Given the description of an element on the screen output the (x, y) to click on. 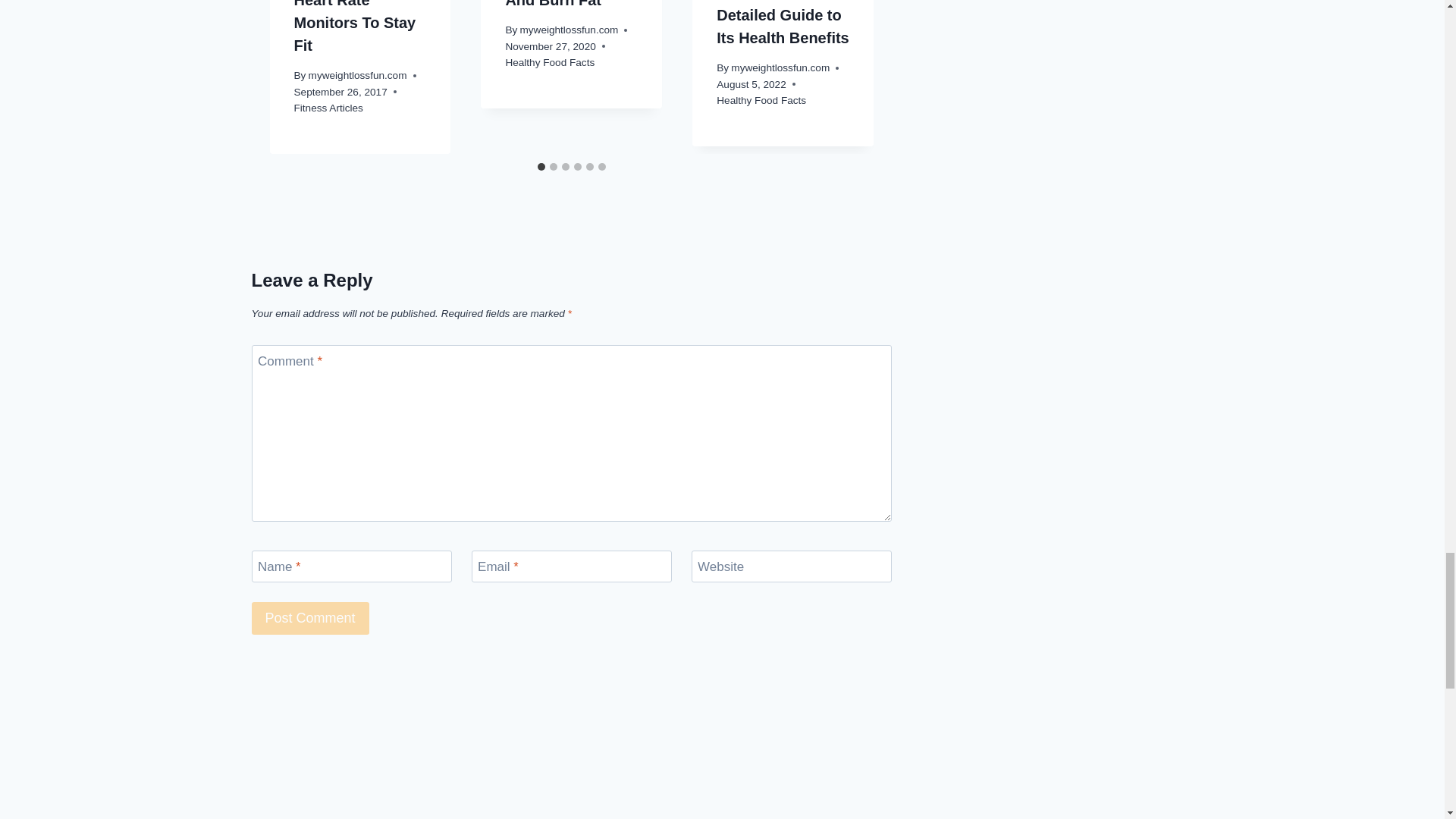
myweightlossfun.com (357, 75)
Post Comment (310, 617)
Why You Need Pedometers And Heart Rate Monitors To Stay Fit (355, 27)
